Given the description of an element on the screen output the (x, y) to click on. 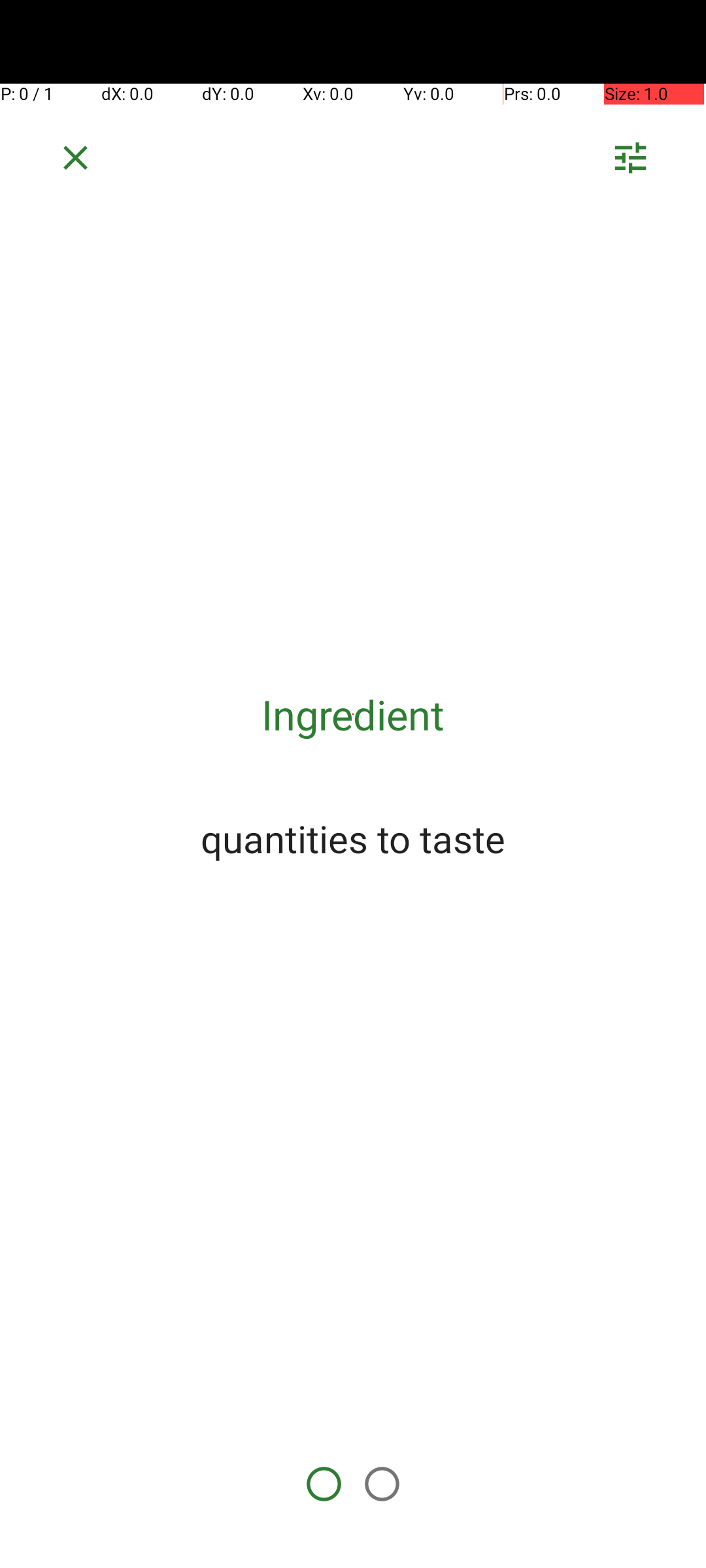
quantities to taste Element type: android.widget.TextView (352, 838)
